Given the description of an element on the screen output the (x, y) to click on. 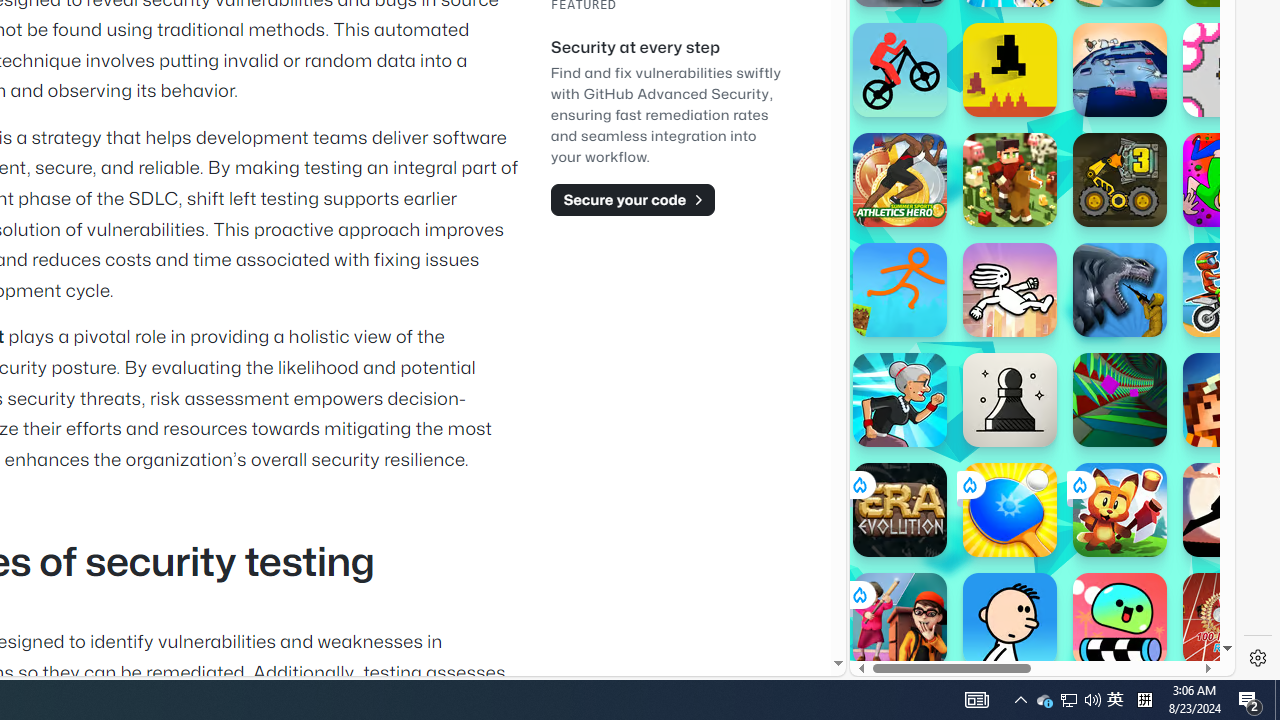
Sharkosaurus Rampage Sharkosaurus Rampage (1119, 289)
Sharkosaurus Rampage (1119, 289)
Hills of Steel Hills of Steel poki.com (943, 245)
School Escape! (899, 619)
Blumgi Slime (1119, 619)
Era: Evolution (899, 509)
Level Devil Level Devil (1009, 69)
School Escape! School Escape! (899, 619)
Athletics Hero Athletics Hero (899, 179)
100 Metres Race 100 Metres Race (1229, 619)
Into the Pit (1229, 69)
Classic Chess (1009, 399)
Ping Pong Go! (1009, 509)
The Speed Ninja The Speed Ninja (1229, 509)
